Given the description of an element on the screen output the (x, y) to click on. 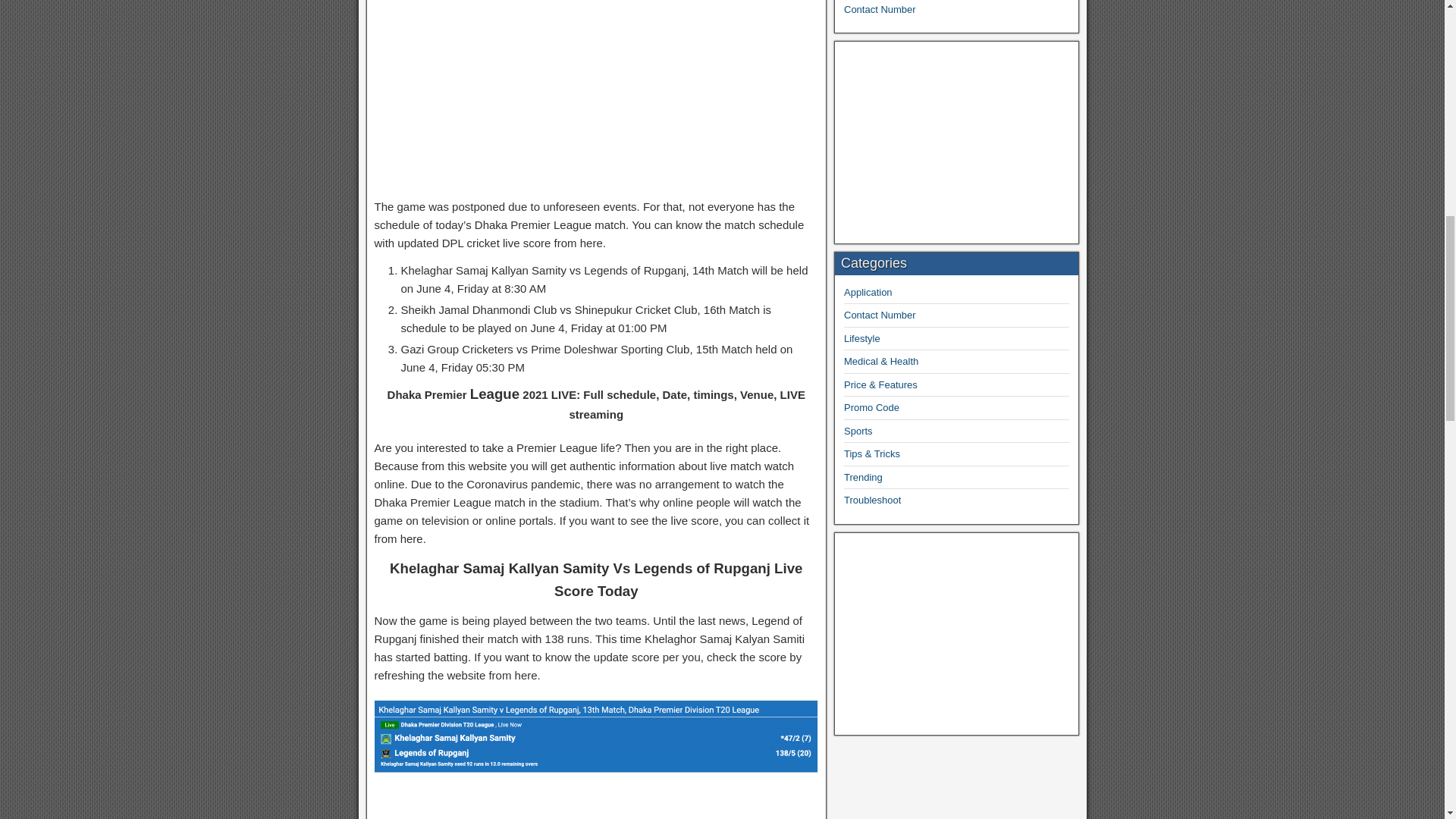
Application (868, 292)
Contact Number (879, 315)
Wythenshawe Hospital Consultants List and Contact Number (940, 7)
Lifestyle (862, 337)
Sports (858, 430)
Advertisement (956, 633)
Advertisement (596, 95)
Troubleshoot (872, 500)
Trending (863, 477)
Advertisement (956, 142)
Promo Code (871, 407)
